Given the description of an element on the screen output the (x, y) to click on. 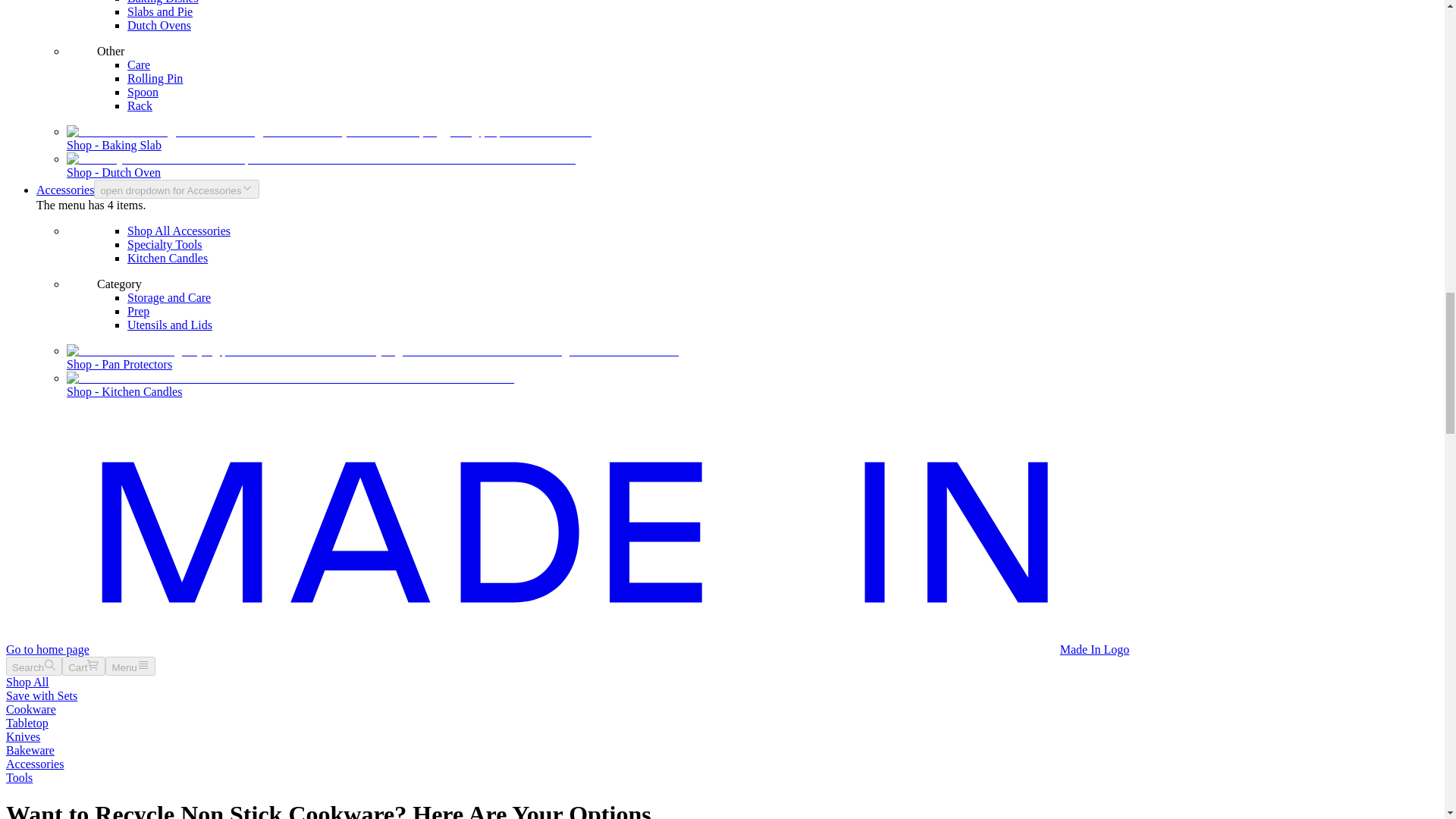
Mobile Menu (129, 665)
Made In Cookware (567, 649)
Cart (83, 665)
Search (33, 665)
